Given the description of an element on the screen output the (x, y) to click on. 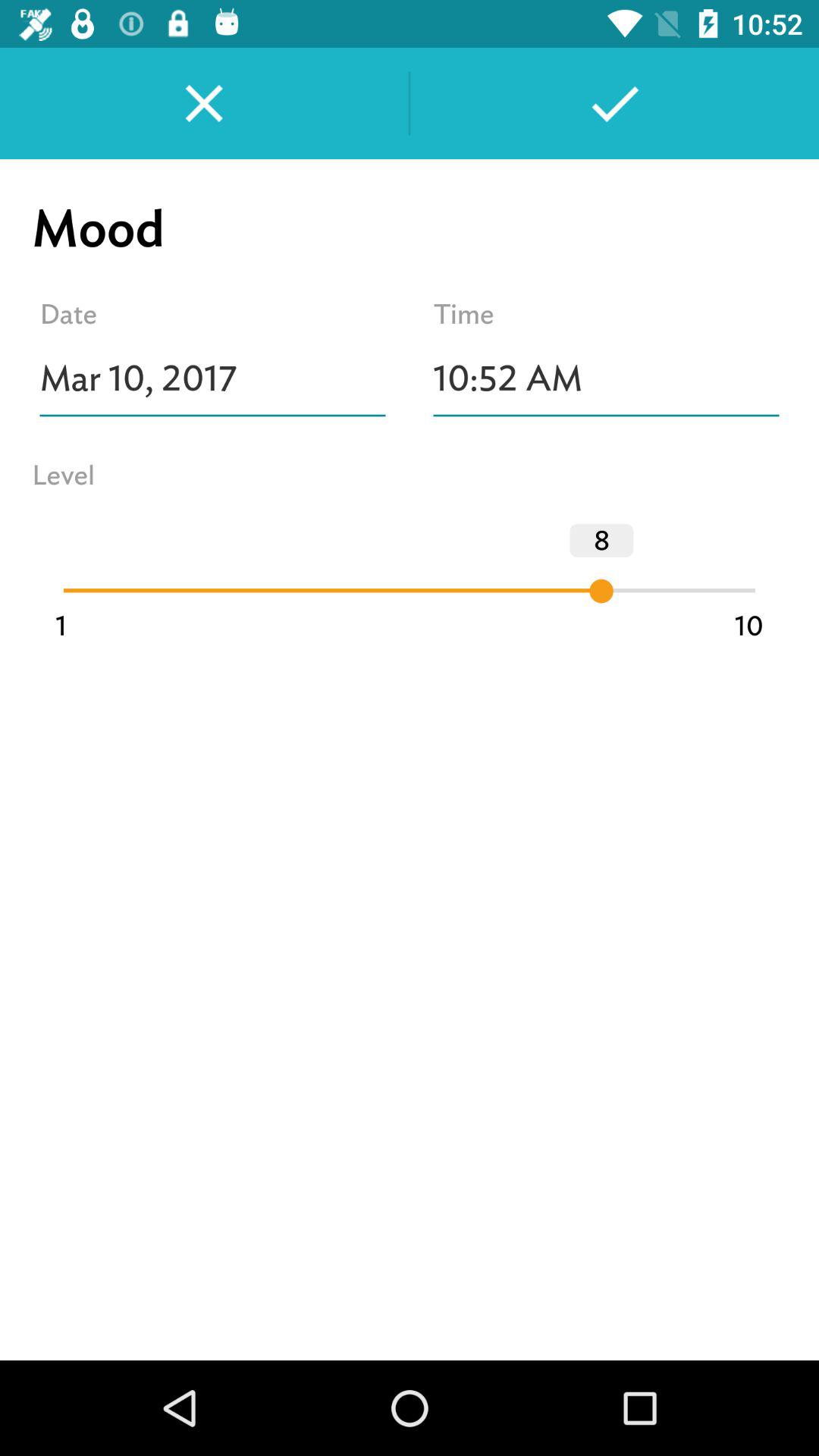
choose icon below the time (606, 378)
